Given the description of an element on the screen output the (x, y) to click on. 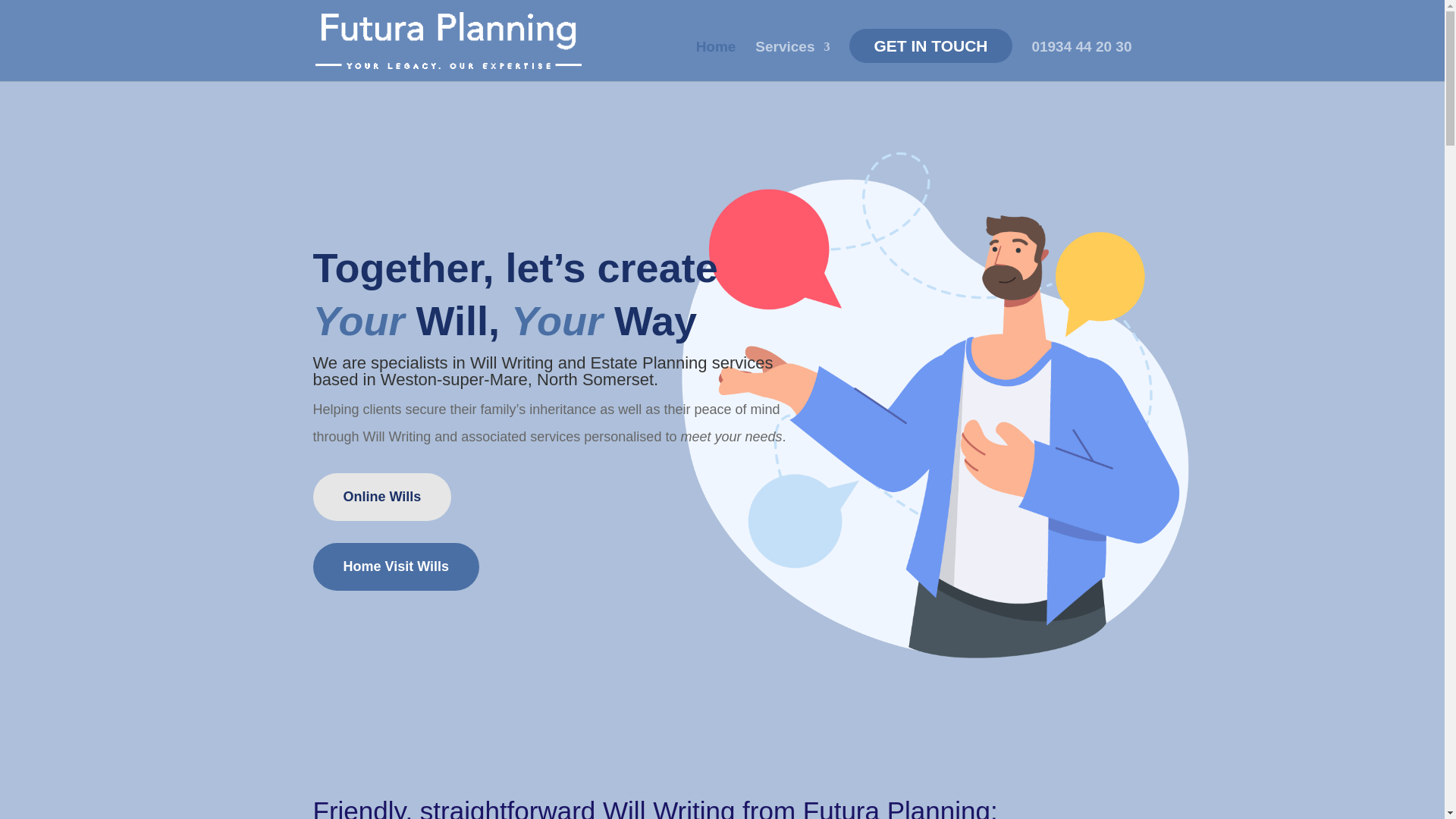
Online Wills (382, 496)
Home Visit Wills (396, 566)
01934 44 20 30 (1080, 61)
Services (792, 61)
GET IN TOUCH (929, 45)
Home (715, 61)
